Given the description of an element on the screen output the (x, y) to click on. 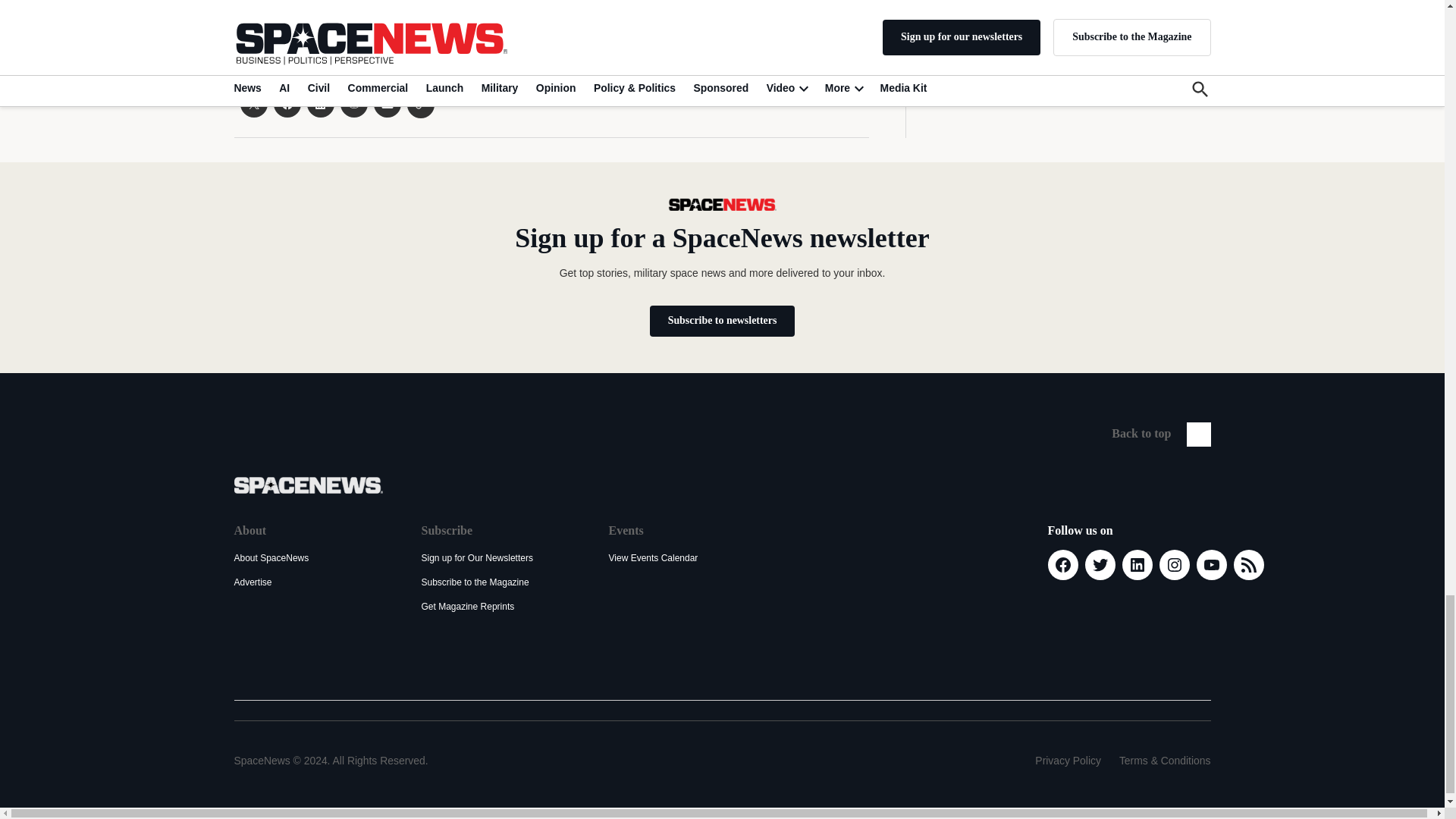
Click to share on LinkedIn (319, 103)
Click to share on Clipboard (419, 103)
Click to share on Reddit (352, 103)
Click to share on X (253, 103)
Click to share on Facebook (286, 103)
Click to email a link to a friend (386, 103)
